Given the description of an element on the screen output the (x, y) to click on. 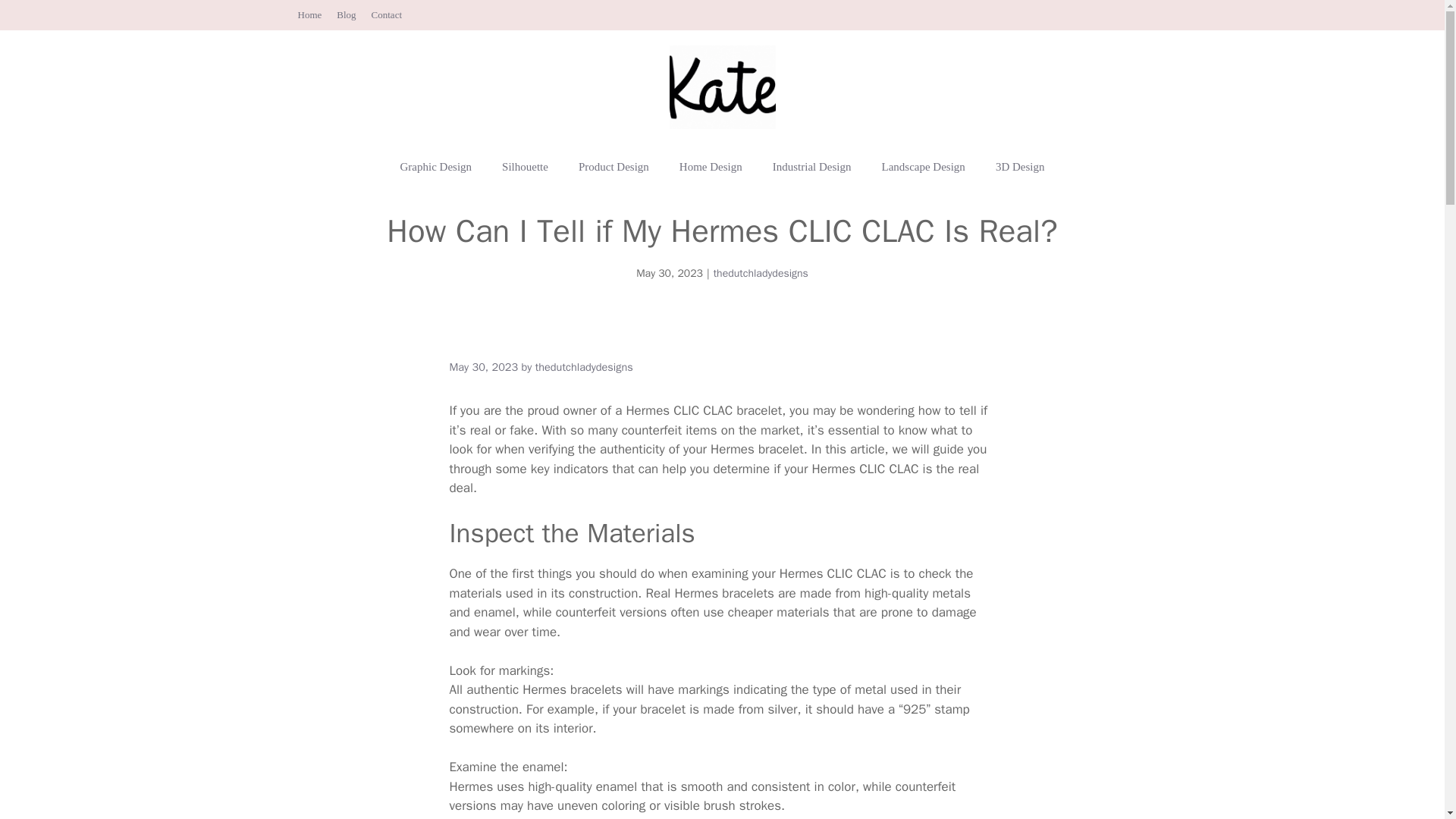
Blog (345, 14)
Graphic Design (436, 166)
3D Design (1019, 166)
Landscape Design (922, 166)
Home Design (710, 166)
Product Design (613, 166)
View all posts by thedutchladydesigns (584, 366)
Silhouette (524, 166)
thedutchladydesigns (760, 273)
Contact (386, 14)
Industrial Design (811, 166)
Home (309, 14)
thedutchladydesigns (584, 366)
